Given the description of an element on the screen output the (x, y) to click on. 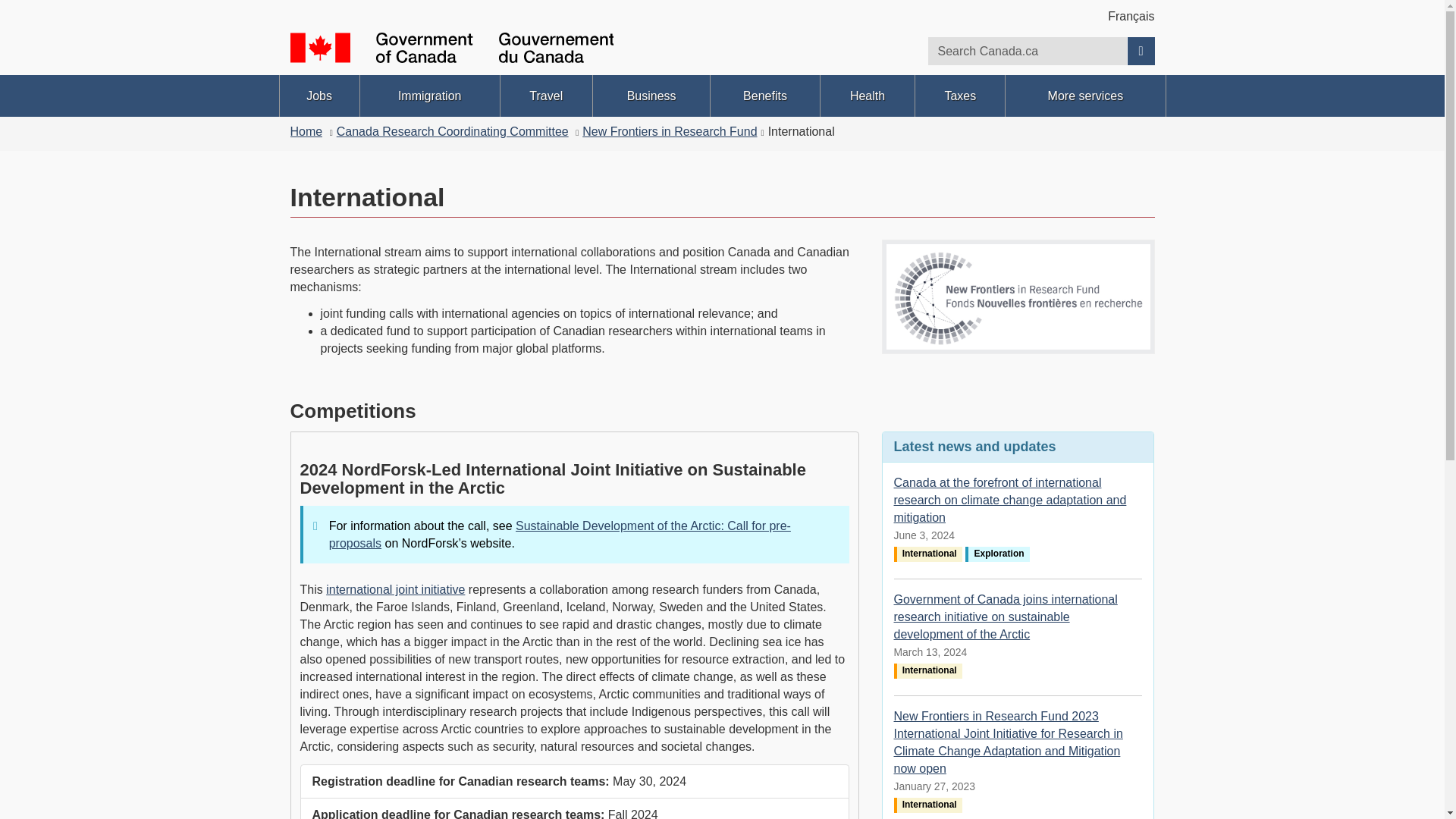
Business (651, 96)
Canada Research Coordinating Committee (452, 131)
Jobs (318, 96)
Search (1140, 50)
New Frontiers in Research Fund (669, 131)
international joint initiative (395, 589)
Home (305, 131)
More services (1085, 96)
